Given the description of an element on the screen output the (x, y) to click on. 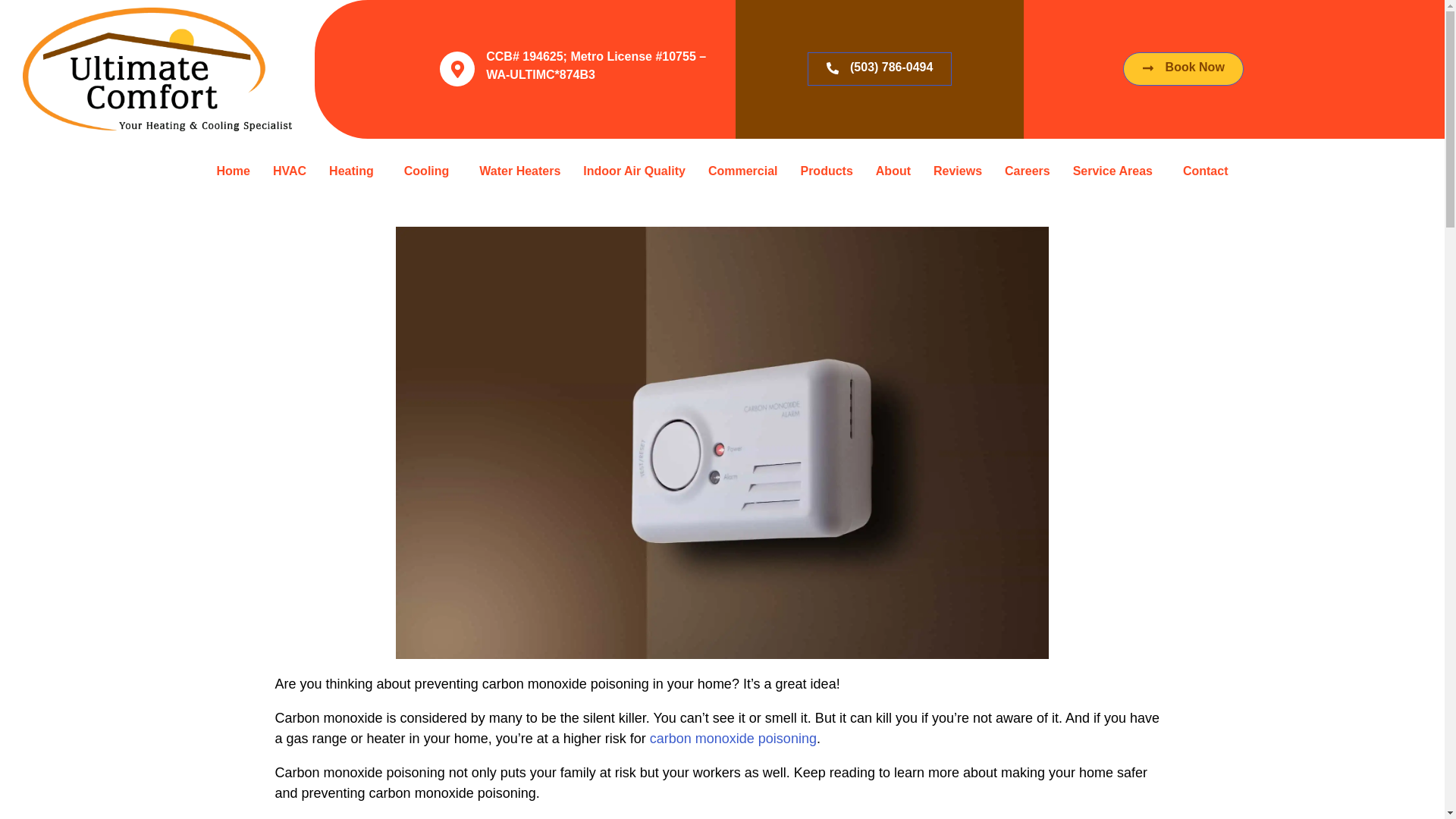
Indoor Air Quality (634, 171)
Commercial (743, 171)
Reviews (956, 171)
Service Areas (1116, 171)
Careers (1026, 171)
Products (826, 171)
Book Now (1182, 165)
Heating (355, 187)
Water Heaters (519, 171)
